Given the description of an element on the screen output the (x, y) to click on. 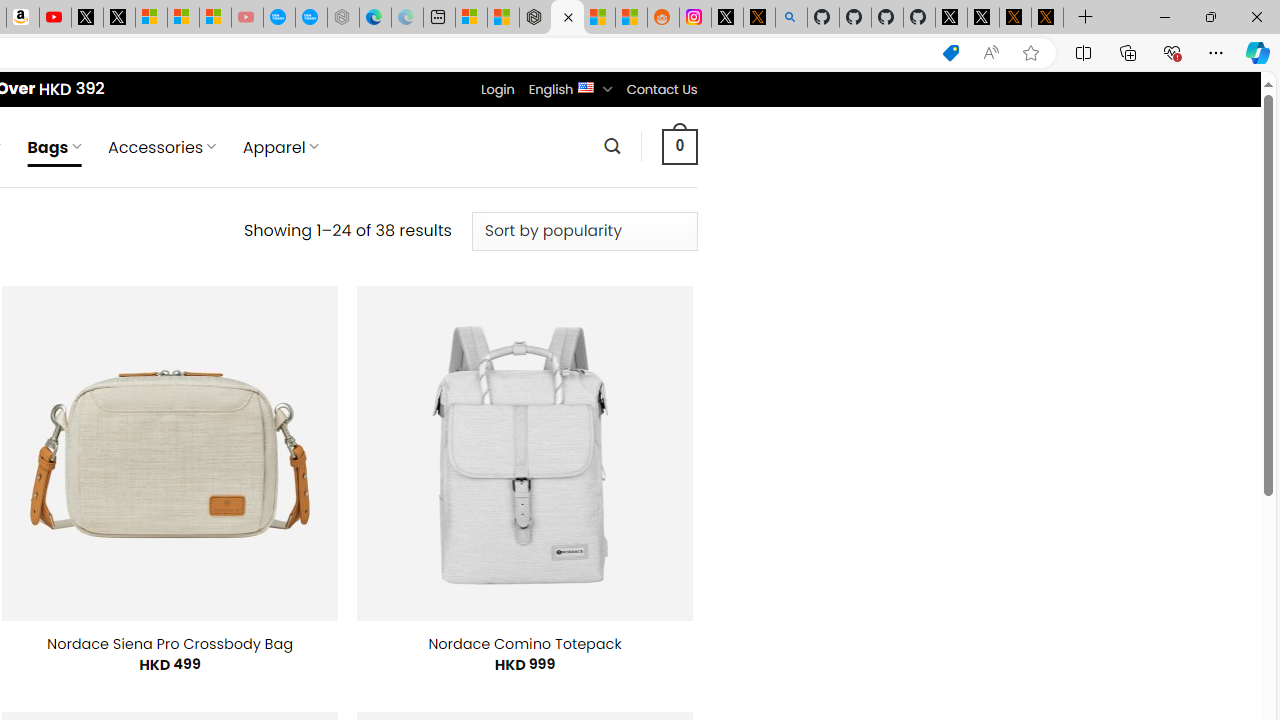
Contact Us (661, 89)
Login (497, 89)
X (118, 17)
 0  (679, 146)
Log in to X / X (727, 17)
X Privacy Policy (1047, 17)
